Given the description of an element on the screen output the (x, y) to click on. 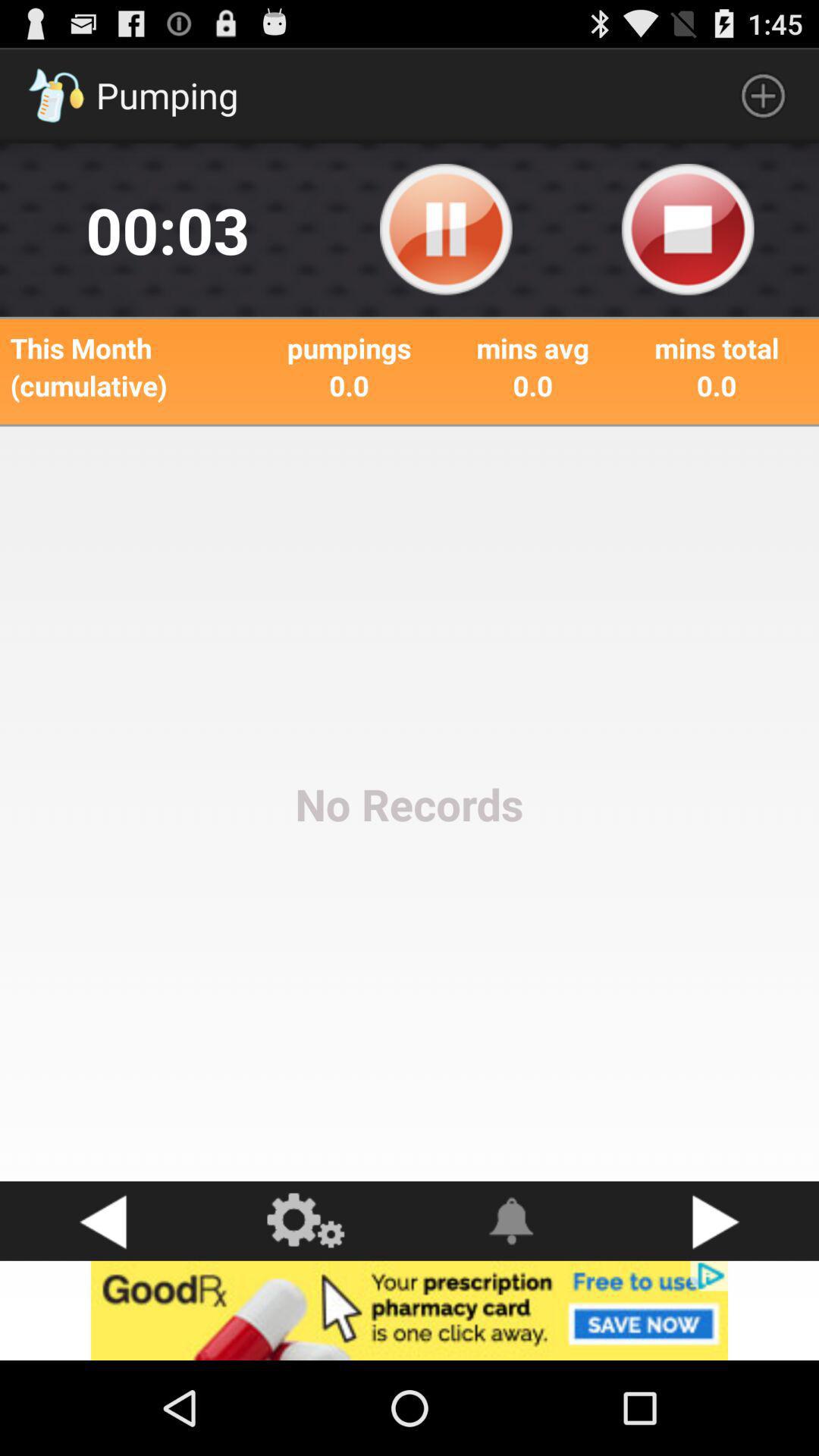
pause the records (445, 229)
